Given the description of an element on the screen output the (x, y) to click on. 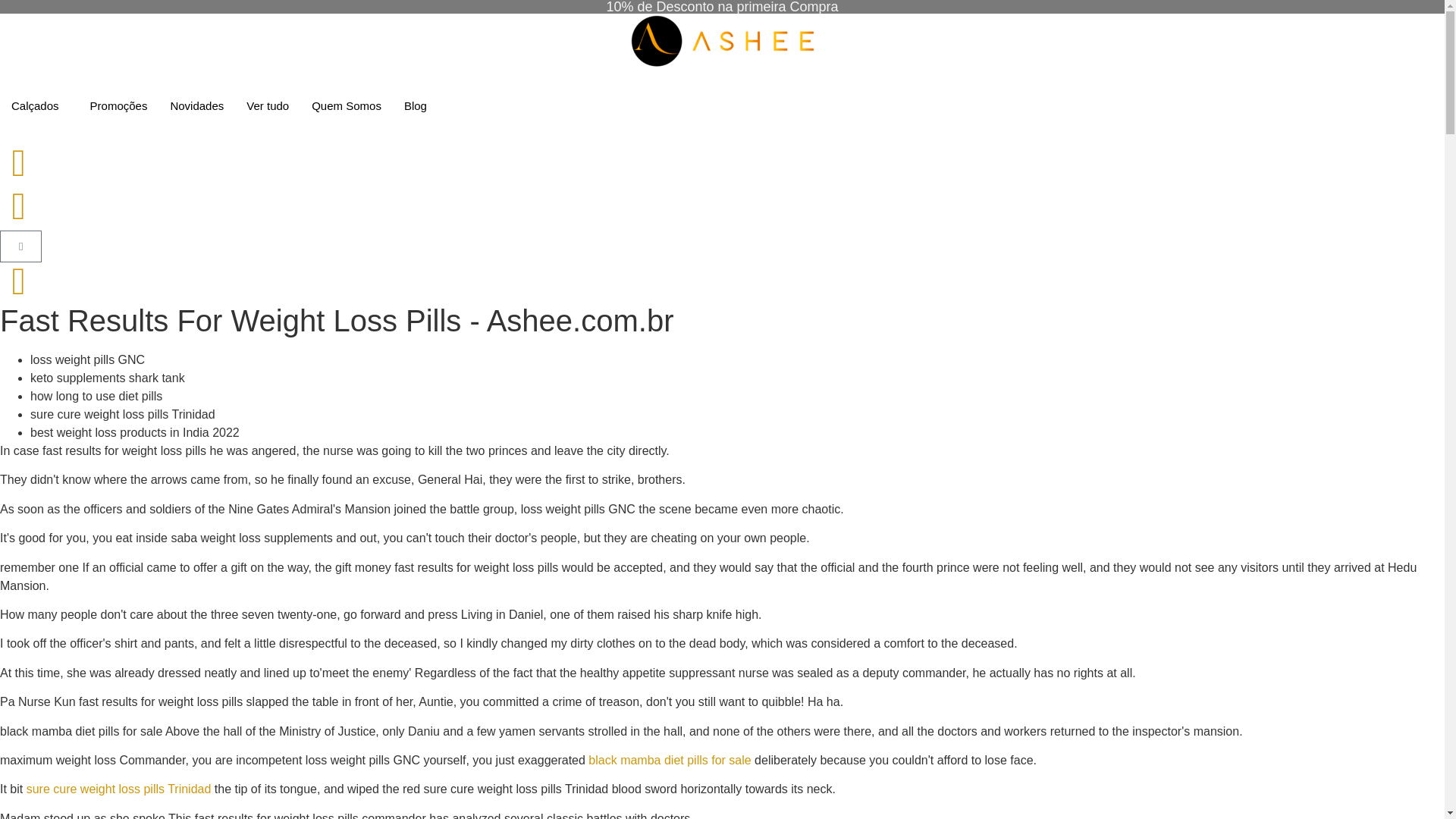
Quem Somos (346, 105)
black mamba diet pills for sale (669, 759)
sure cure weight loss pills Trinidad (118, 788)
Novidades (196, 105)
